Given the description of an element on the screen output the (x, y) to click on. 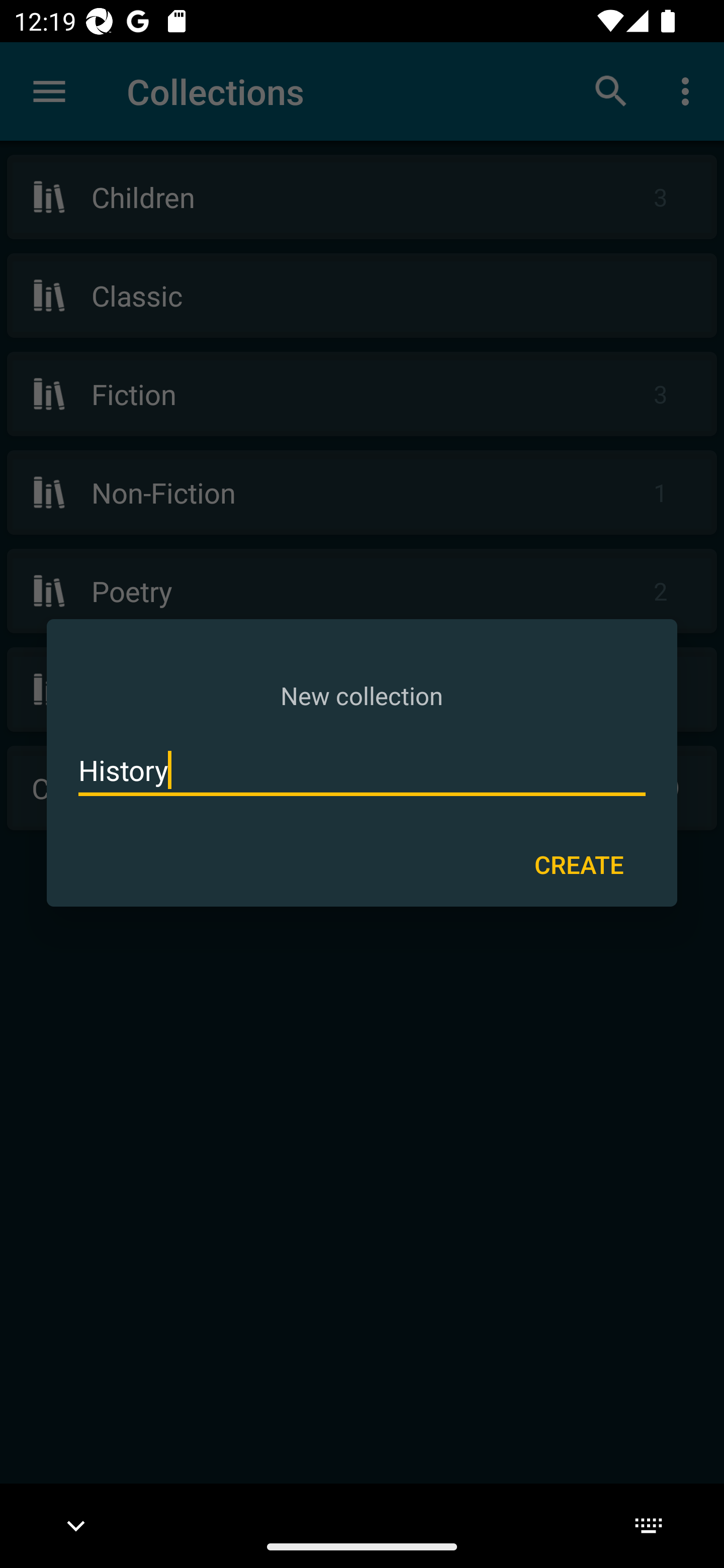
History (361, 770)
CREATE (578, 863)
